Given the description of an element on the screen output the (x, y) to click on. 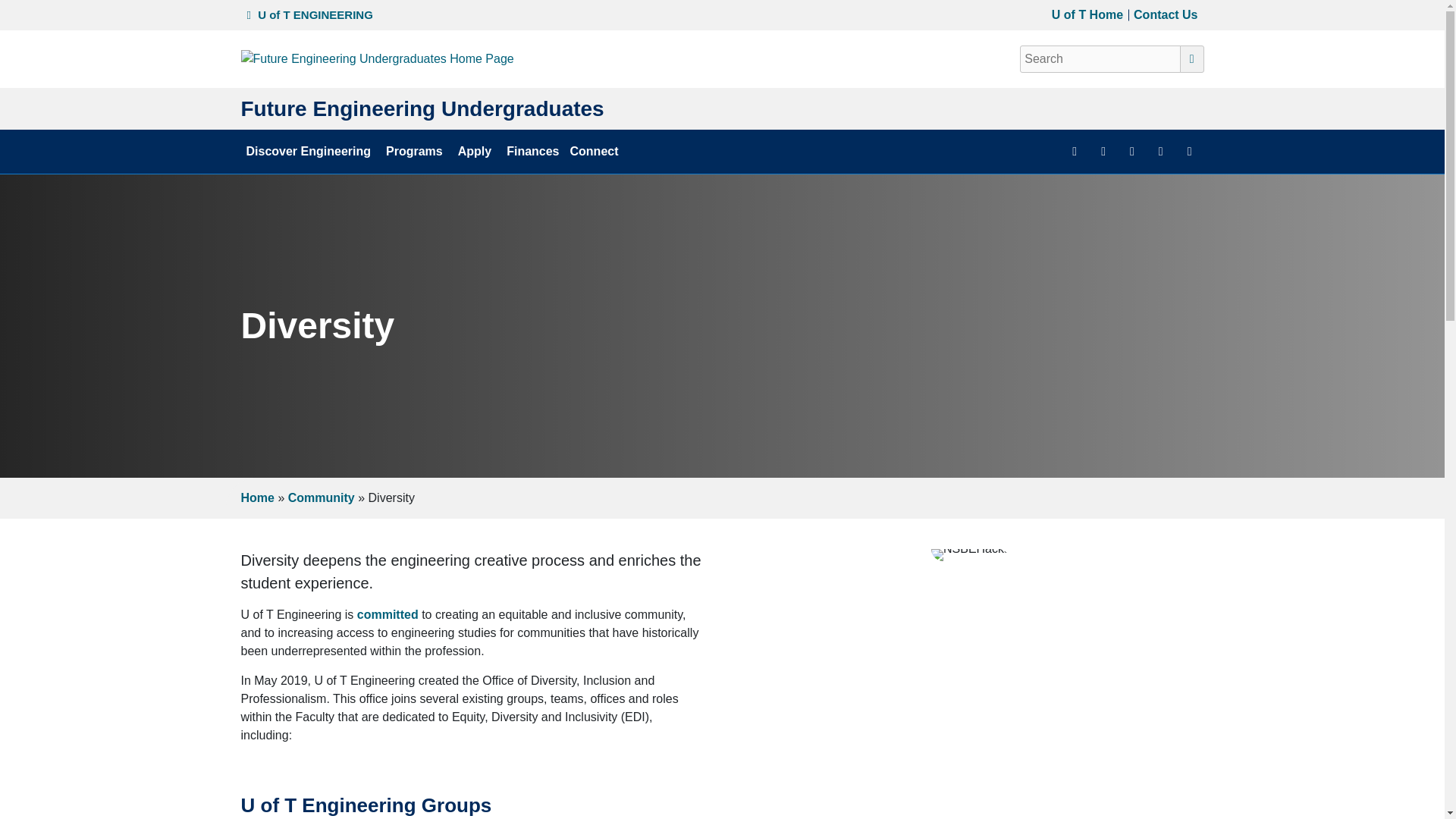
Contact Us (1162, 14)
NSBEHacks (970, 554)
U of T Home (1084, 14)
Future Engineering Undergraduates (422, 108)
Programs (416, 151)
U of T ENGINEERING (309, 14)
Discover Engineering (311, 151)
